Given the description of an element on the screen output the (x, y) to click on. 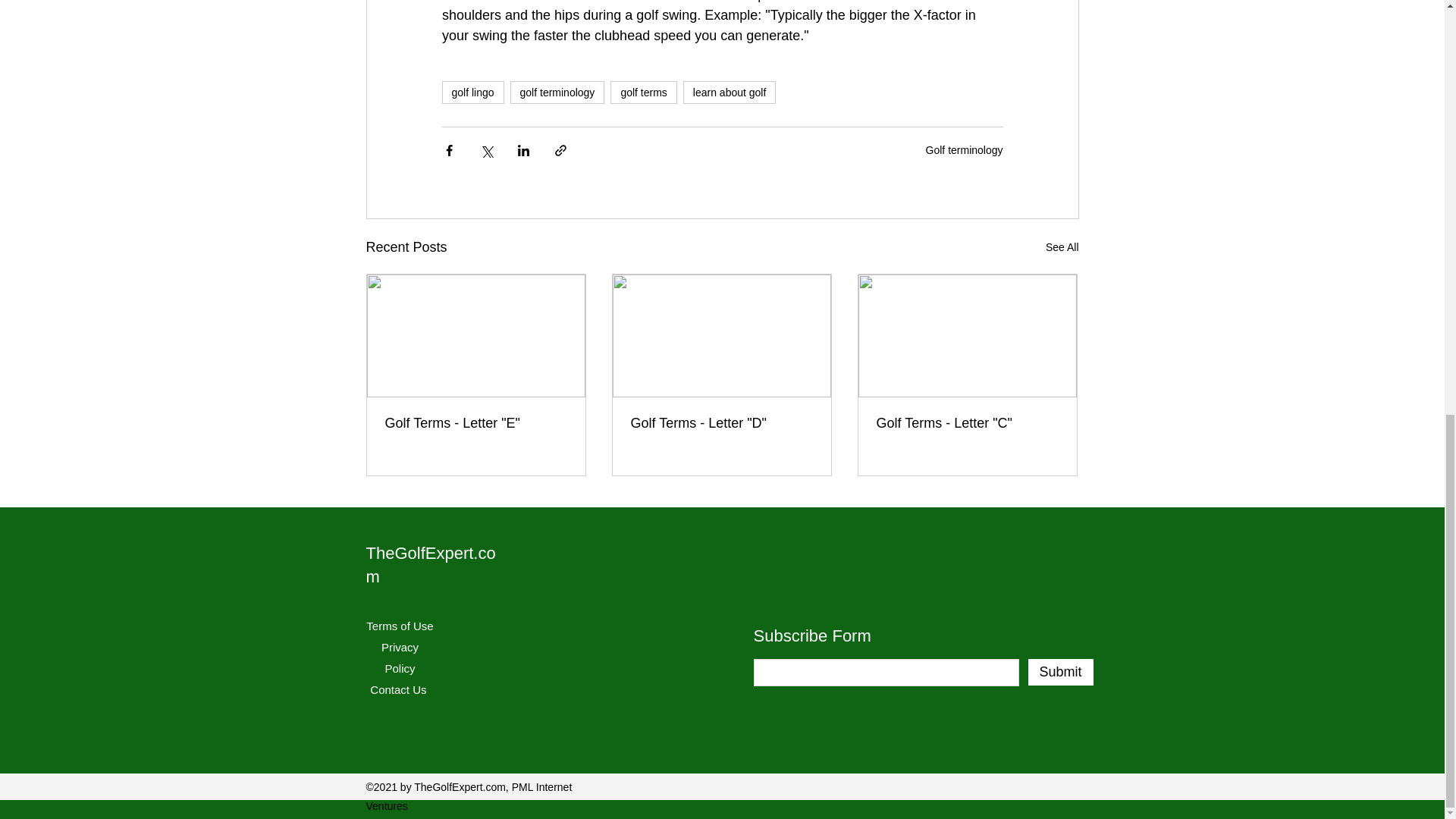
golf lingo (472, 92)
golf terminology (558, 92)
learn about golf (729, 92)
golf terms (643, 92)
